Given the description of an element on the screen output the (x, y) to click on. 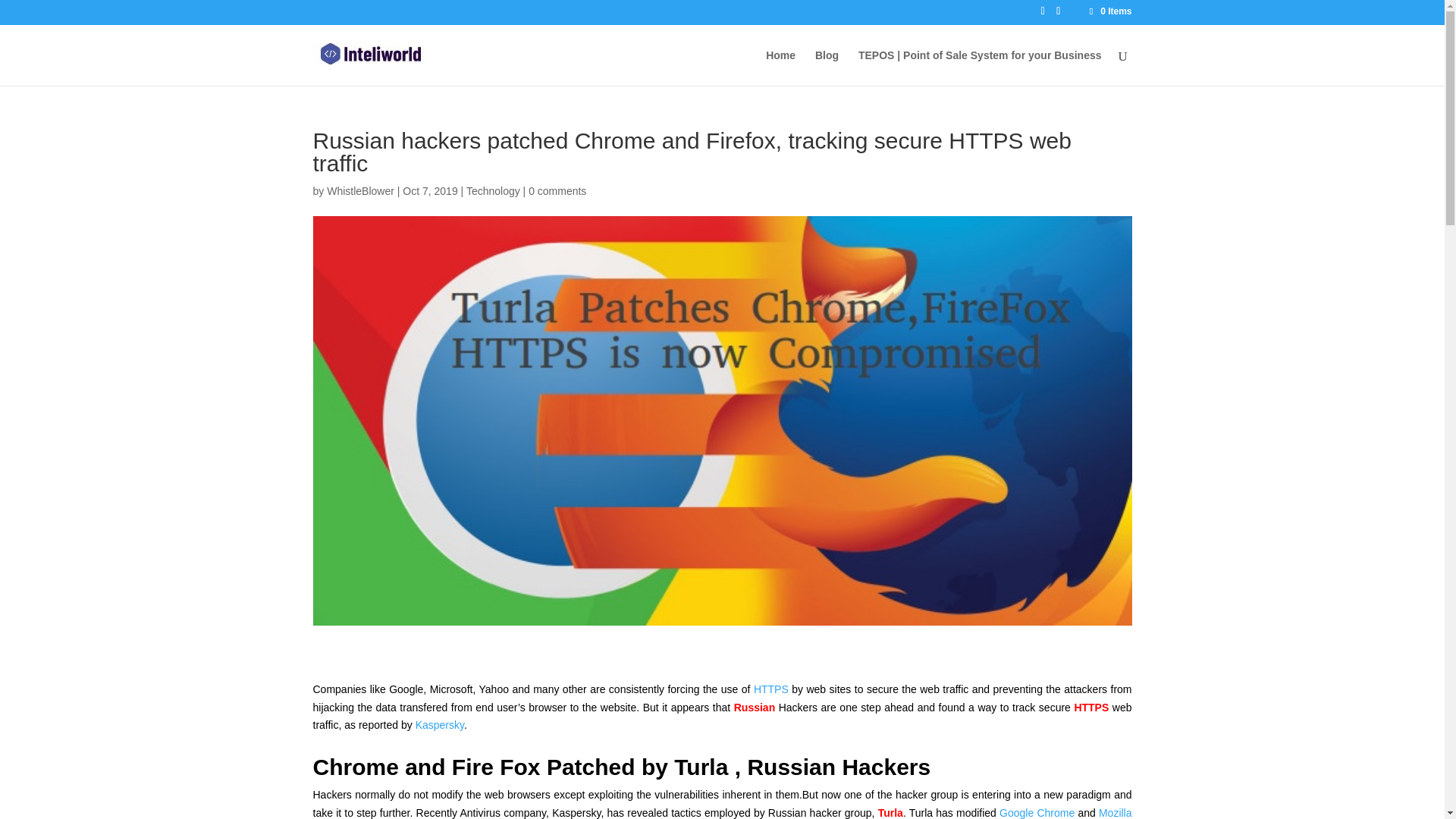
Google Chrome (1034, 812)
Home (779, 67)
Posts by WhistleBlower (360, 191)
Kaspersky (439, 725)
HTTPS (771, 689)
0 Items (1108, 10)
Technology (492, 191)
0 comments (557, 191)
Mozilla FireFox (722, 812)
WhistleBlower (360, 191)
Blog (826, 67)
